Given the description of an element on the screen output the (x, y) to click on. 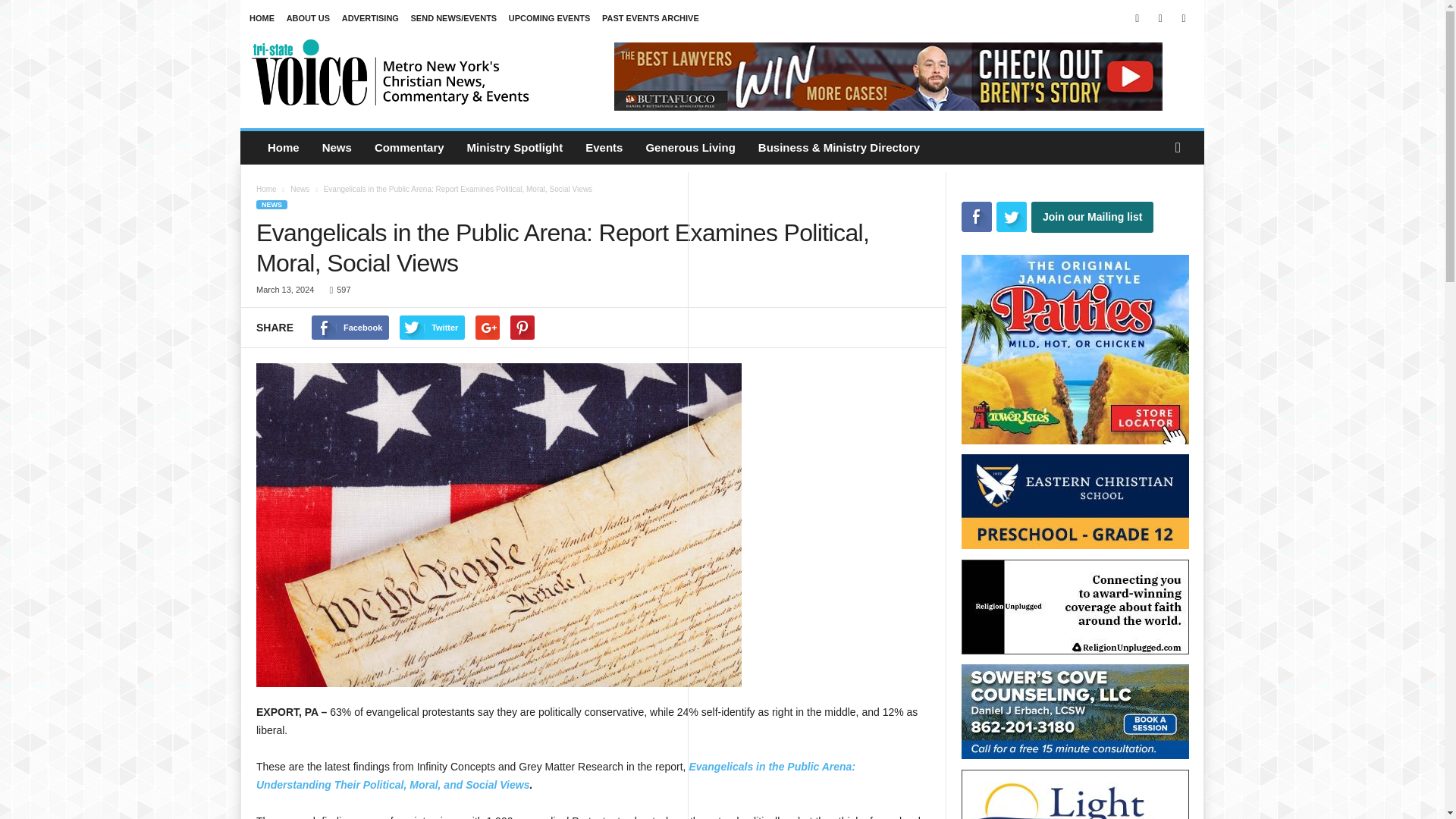
Events (603, 147)
Home (283, 147)
News (298, 189)
News (336, 147)
View all posts in News (298, 189)
Instagram (1160, 18)
Generous Living (689, 147)
Commentary (408, 147)
Facebook (1137, 18)
PAST EVENTS ARCHIVE (650, 17)
HOME (261, 17)
NEWS (271, 204)
ABOUT US (308, 17)
UPCOMING EVENTS (549, 17)
Tri-State Voice (391, 70)
